Given the description of an element on the screen output the (x, y) to click on. 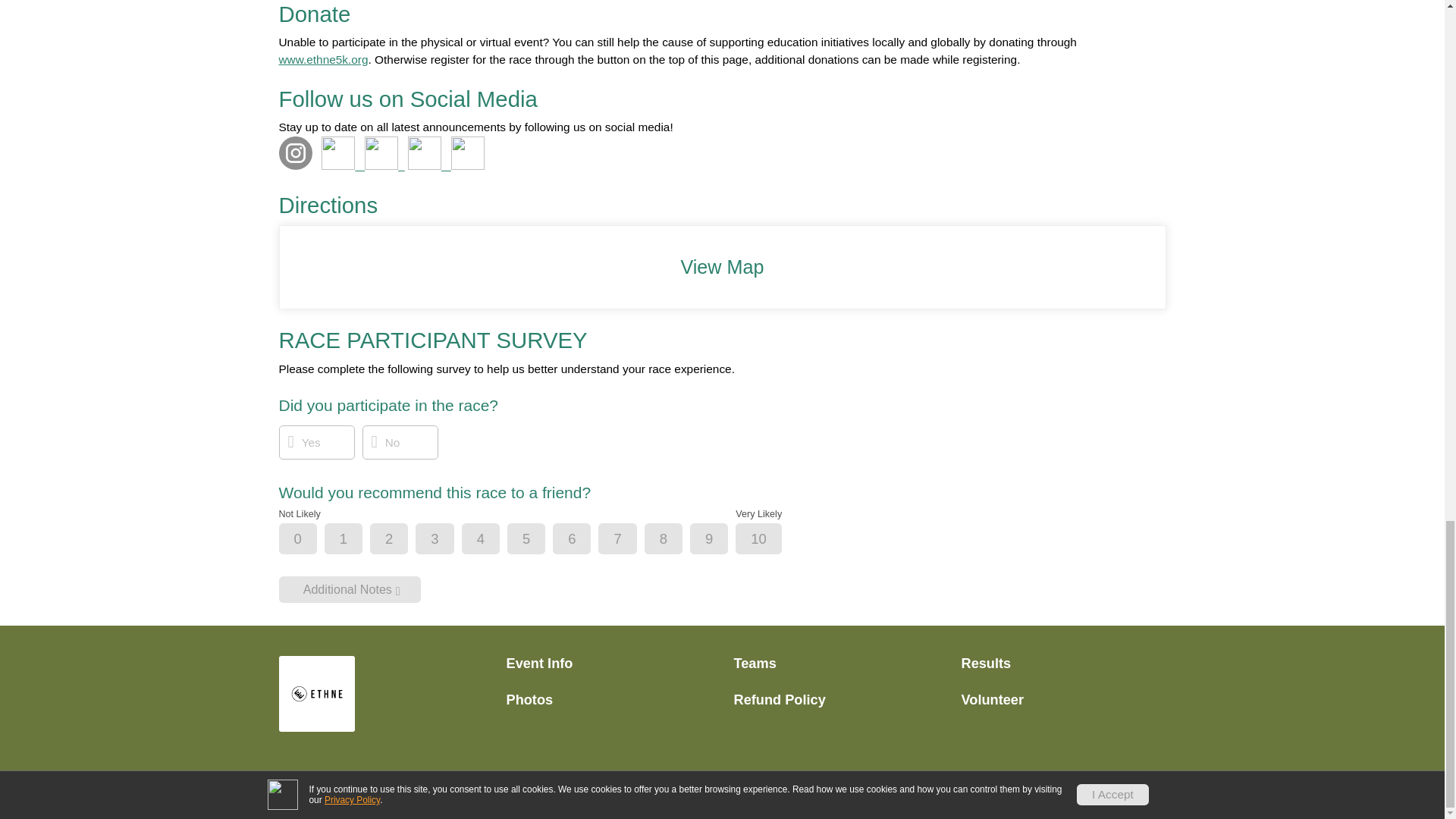
0 (310, 539)
www.ethne5k.org (323, 58)
3 (447, 539)
5 (539, 539)
10 (770, 539)
9 (721, 539)
1 (355, 539)
7 (629, 539)
